Given the description of an element on the screen output the (x, y) to click on. 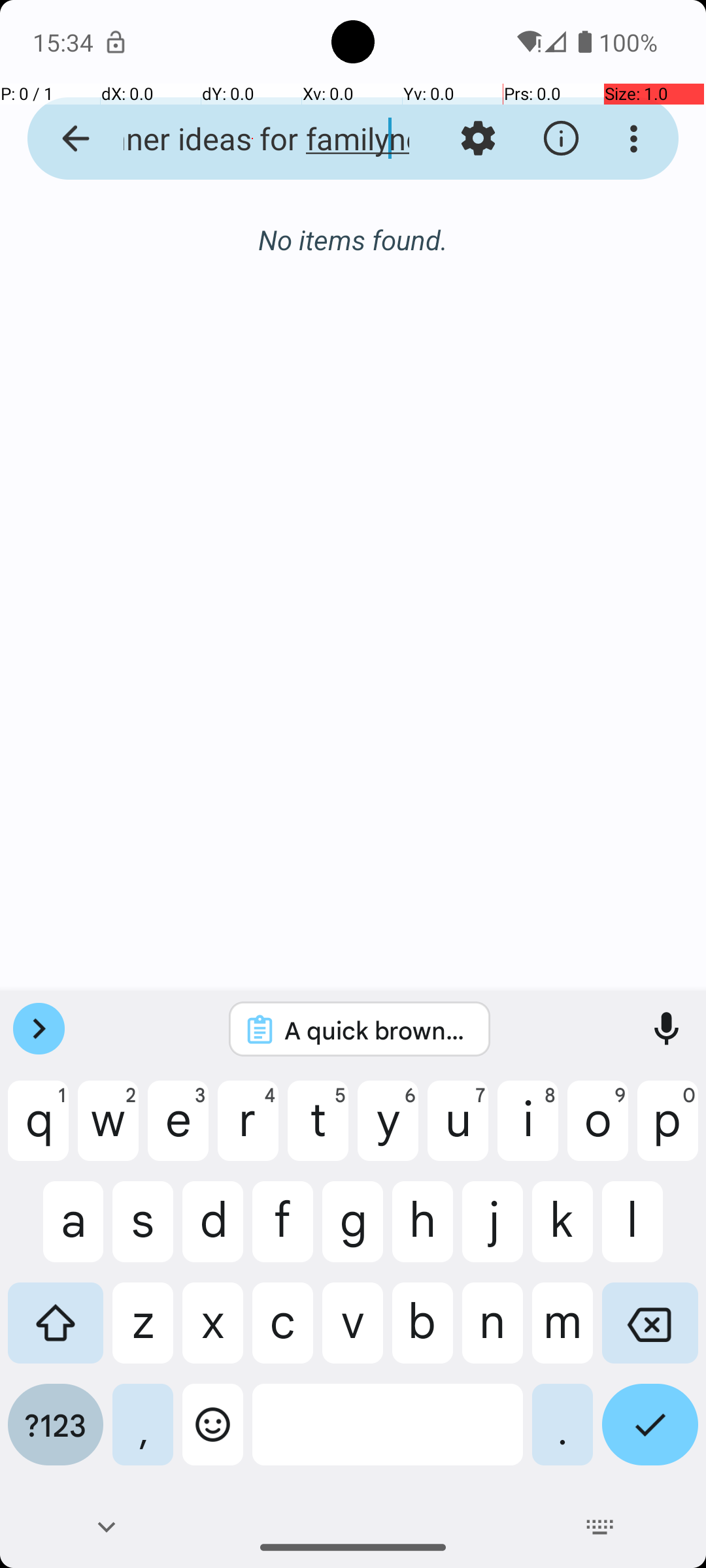
family dindinner ideas for familyner plans Element type: android.widget.EditText (252, 138)
A quick brown fox. Element type: android.widget.TextView (376, 1029)
